Given the description of an element on the screen output the (x, y) to click on. 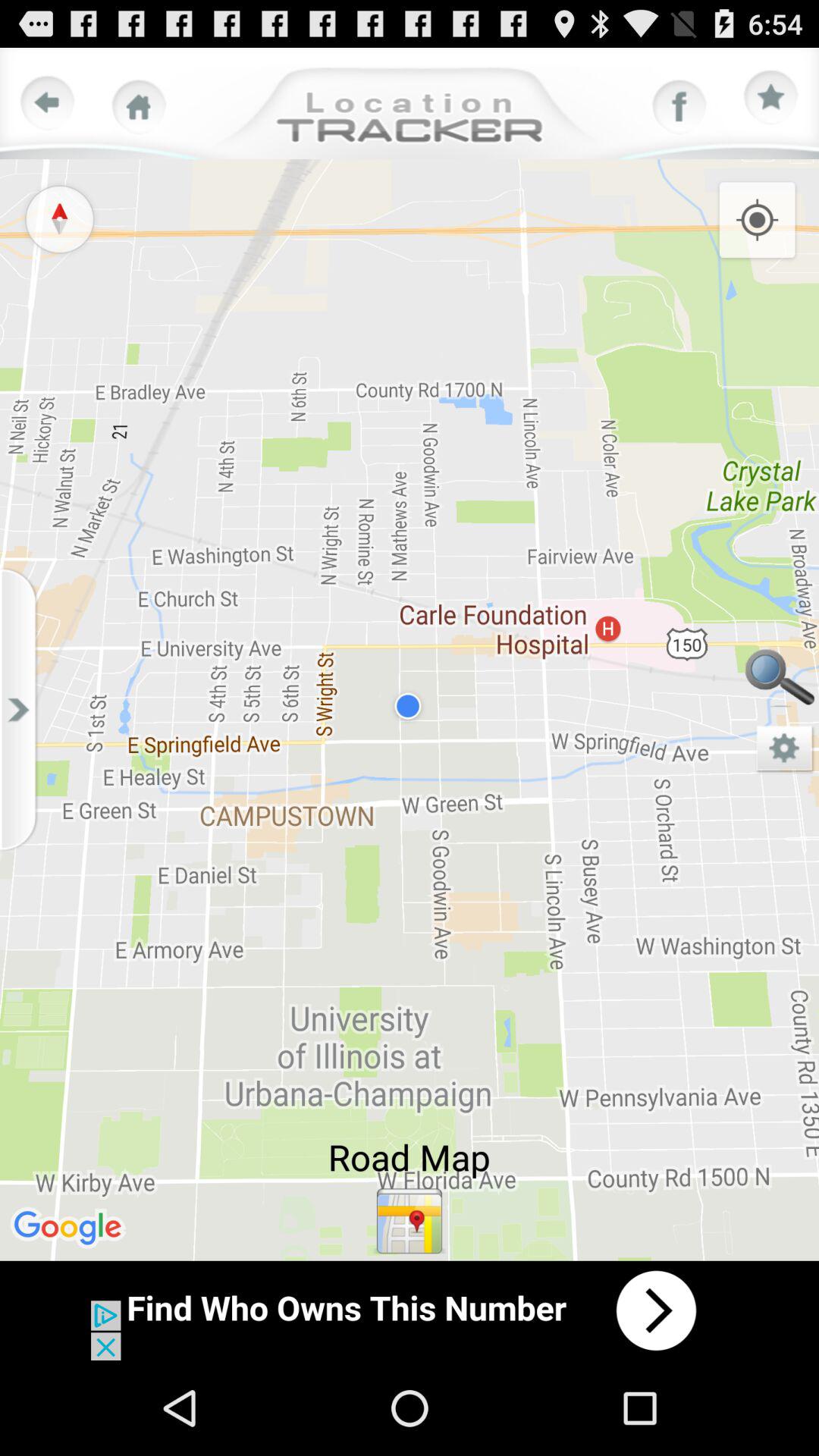
view the road map (409, 1220)
